Given the description of an element on the screen output the (x, y) to click on. 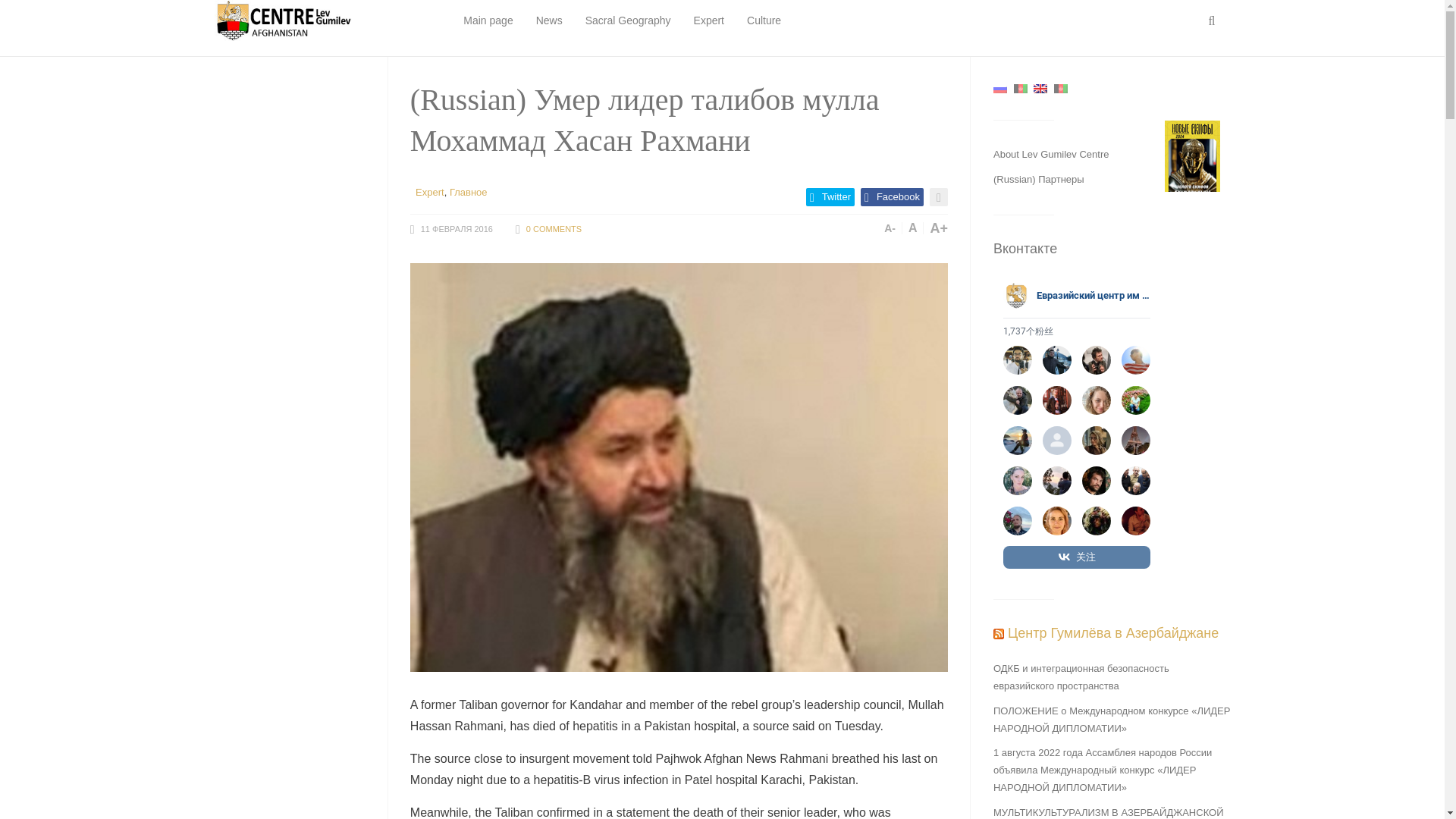
Main page (487, 20)
Sacral Geography (628, 20)
View all posts in Expert (429, 192)
0 COMMENTS (552, 228)
Twitter (830, 197)
Main page (487, 20)
About Lev Gumilev Centre (1050, 153)
Sacral Geography (628, 20)
Expert (429, 192)
Facebook (891, 197)
